Given the description of an element on the screen output the (x, y) to click on. 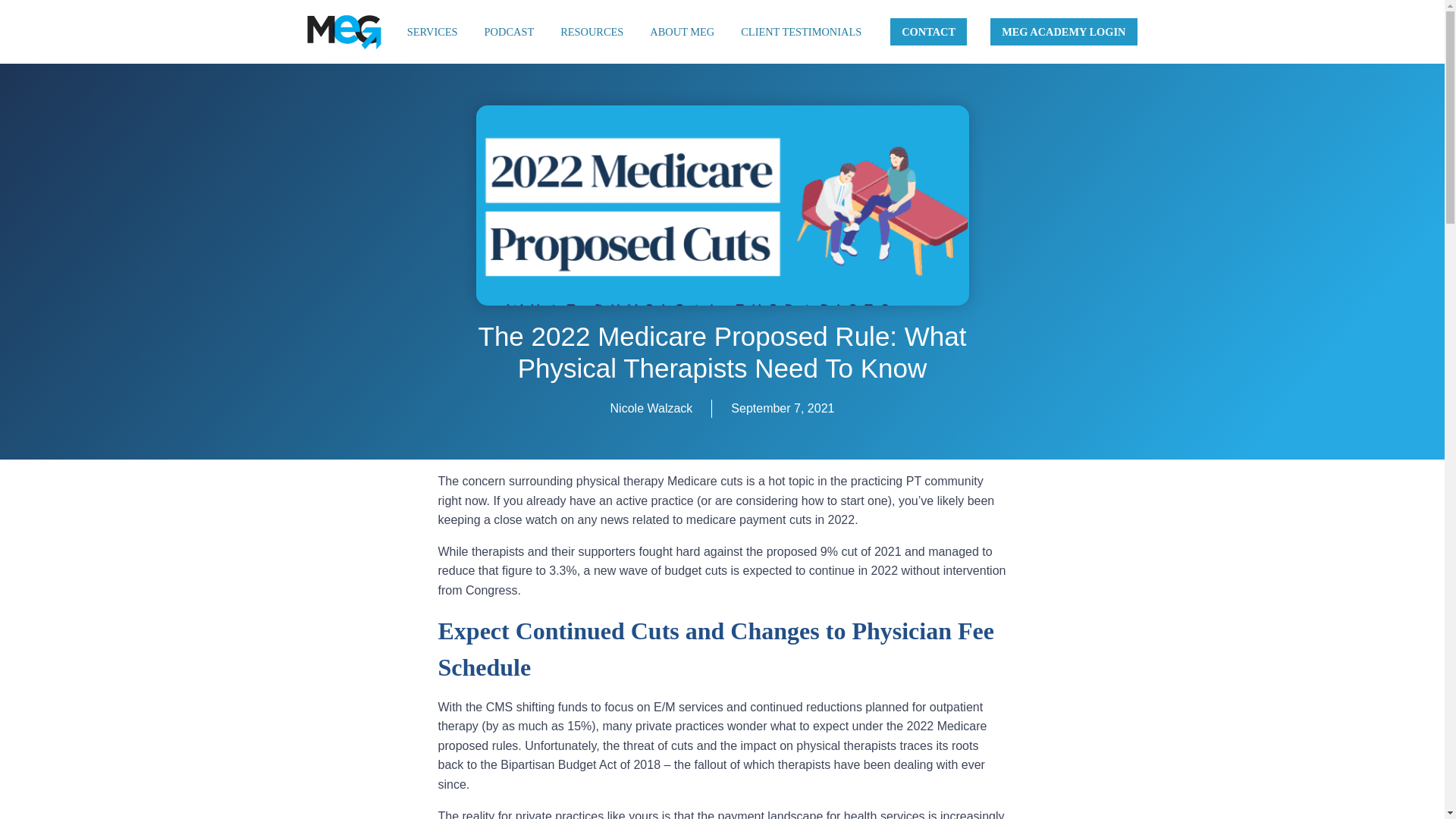
CLIENT TESTIMONIALS (801, 31)
MEG ACADEMY LOGIN (1063, 31)
CONTACT (928, 31)
RESOURCES (591, 31)
ABOUT MEG (681, 31)
